Given the description of an element on the screen output the (x, y) to click on. 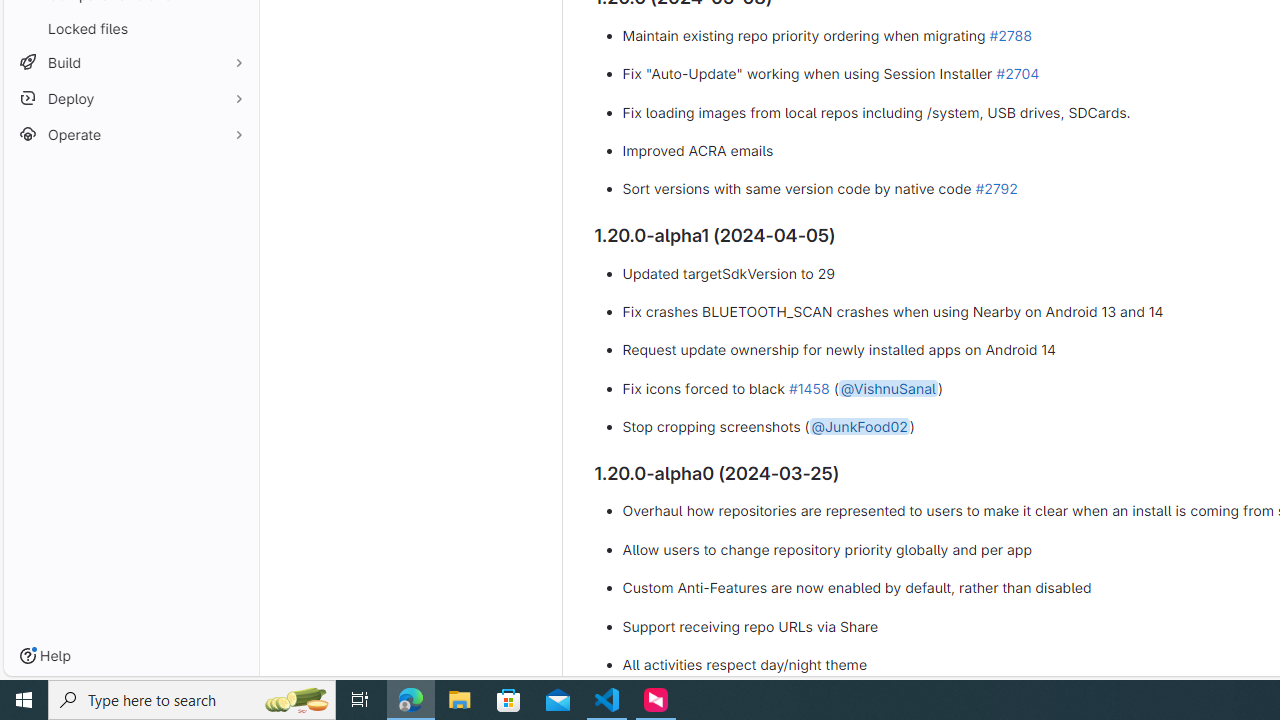
#2792 (996, 189)
